Given the description of an element on the screen output the (x, y) to click on. 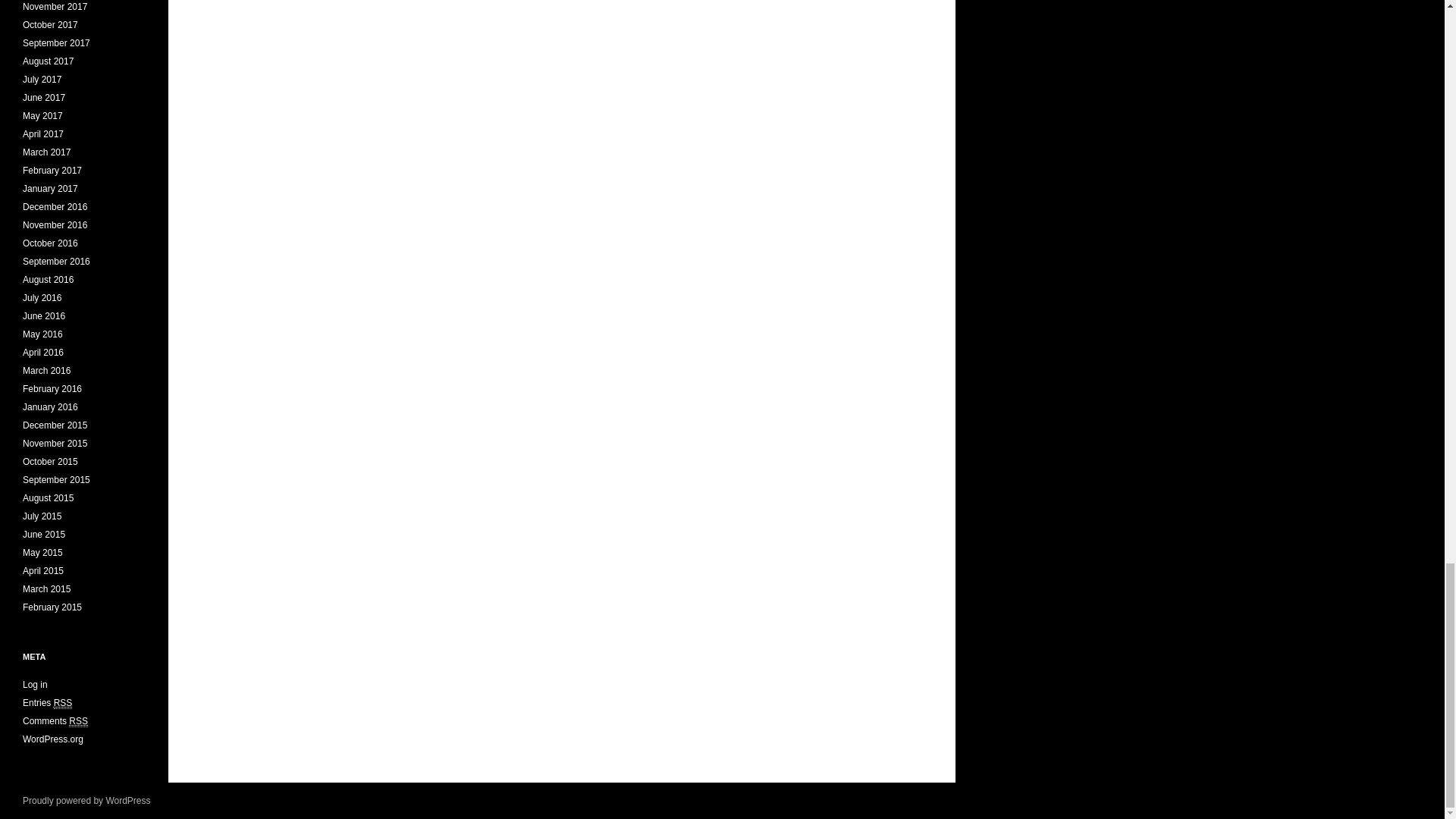
Really Simple Syndication (77, 721)
Really Simple Syndication (62, 703)
